Given the description of an element on the screen output the (x, y) to click on. 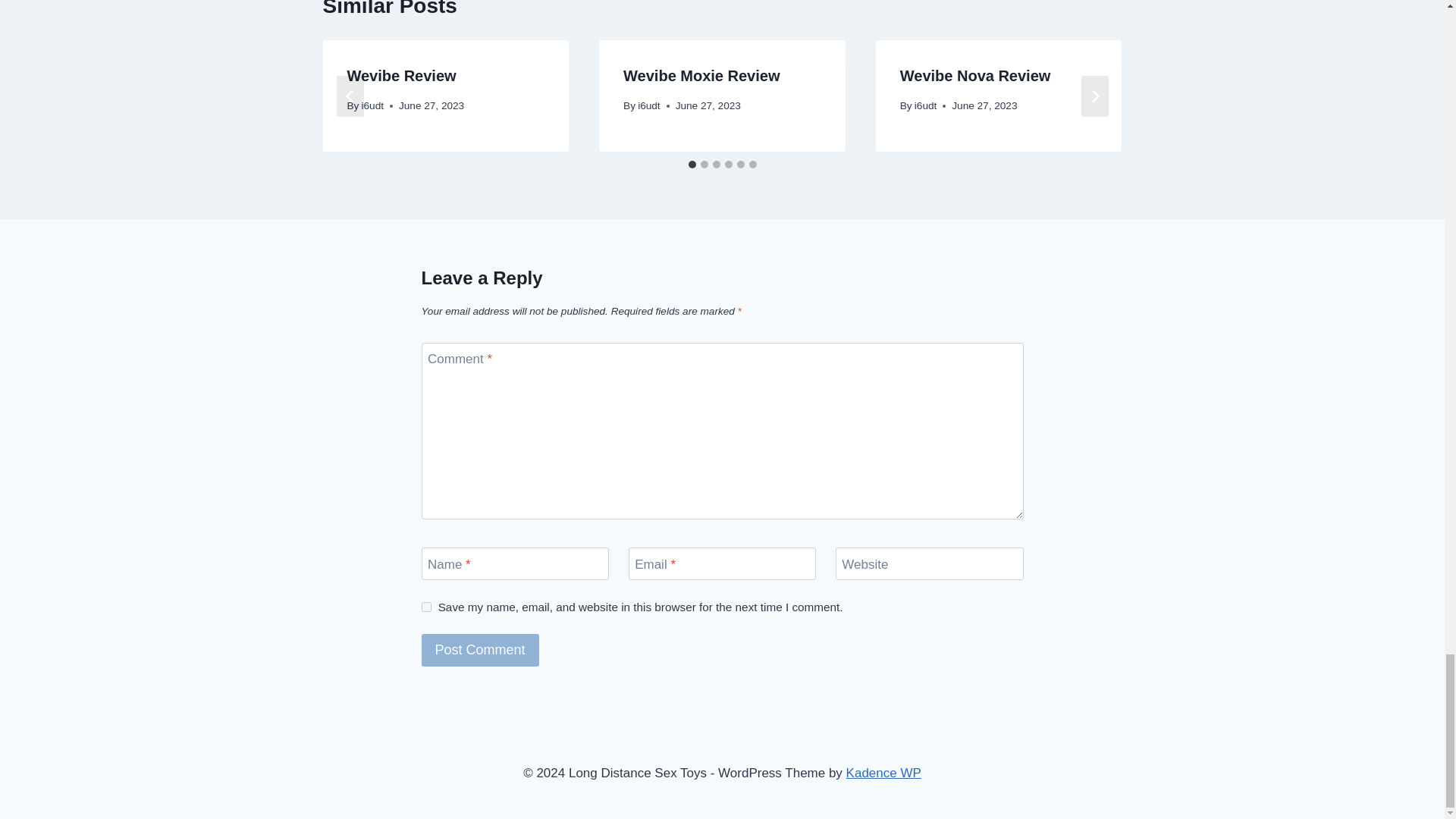
Post Comment (480, 649)
yes (426, 606)
